Given the description of an element on the screen output the (x, y) to click on. 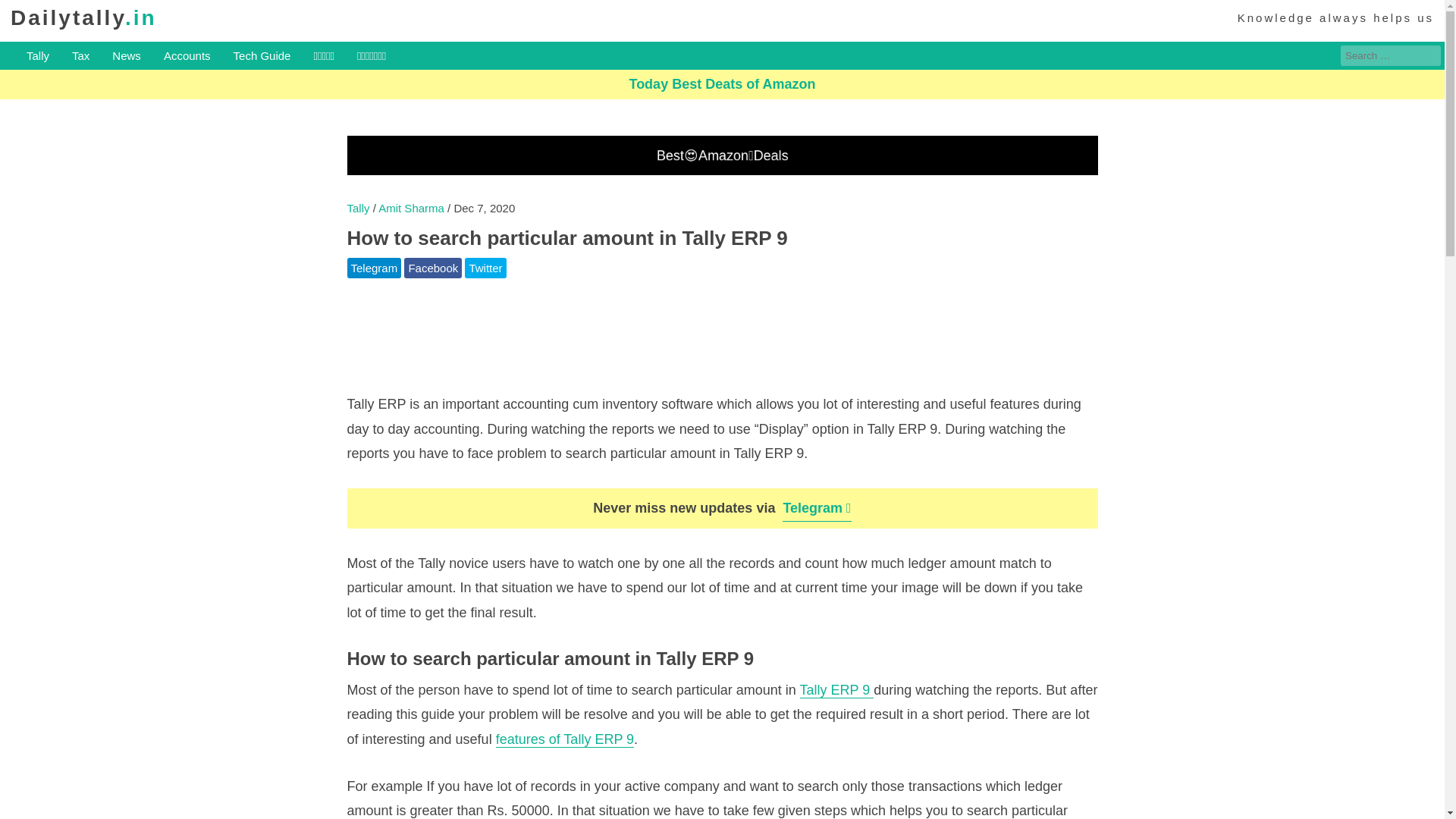
Dailytally Home (83, 17)
Telegram (374, 267)
Twitter (484, 267)
Tally (358, 207)
Amit Sharma (412, 207)
Facebook (432, 267)
Join us on Facebook (432, 267)
News (126, 55)
Join us on Twitter (484, 267)
Tech Guide (261, 55)
